Given the description of an element on the screen output the (x, y) to click on. 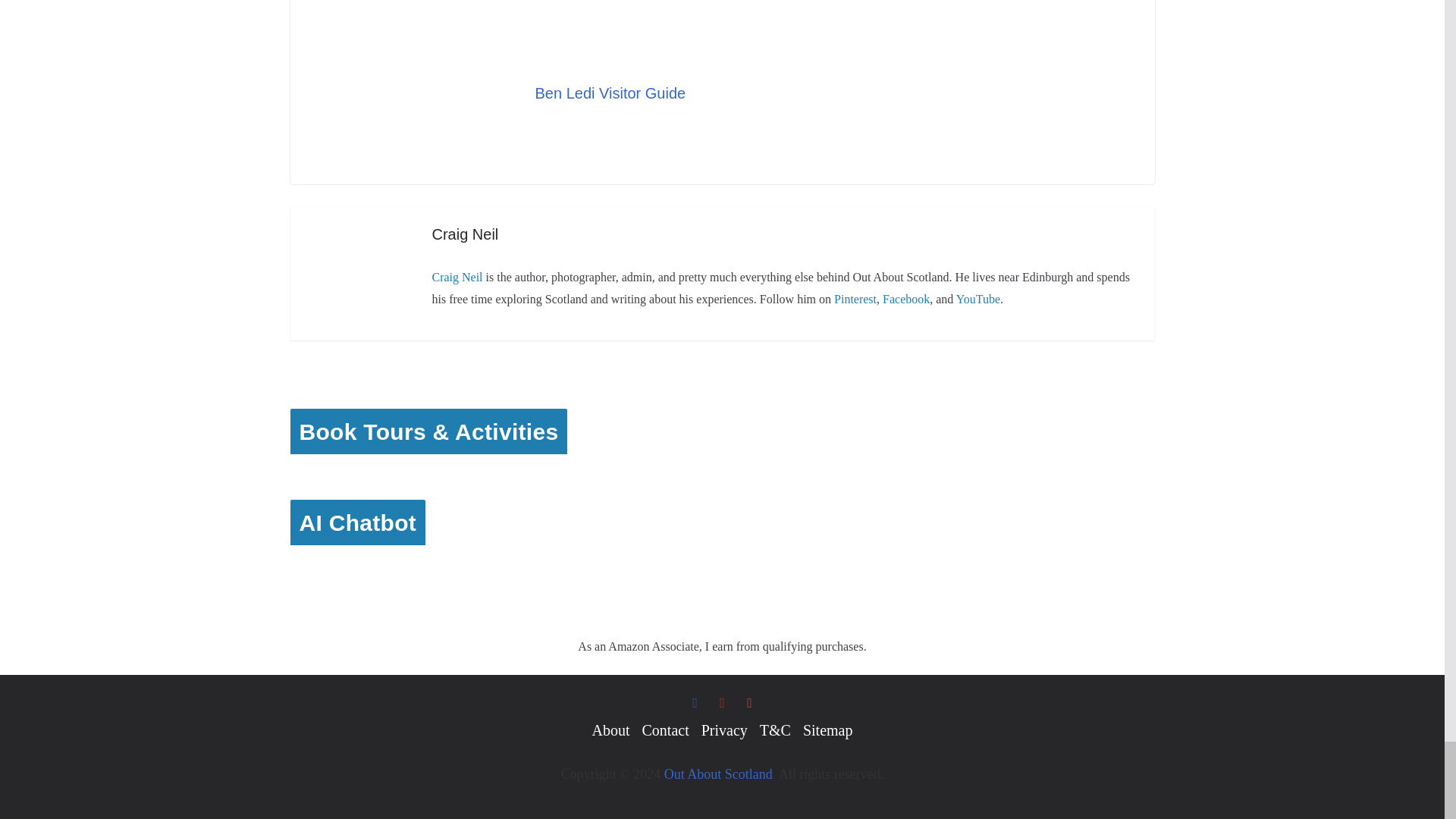
Out About Scotland (718, 774)
